Given the description of an element on the screen output the (x, y) to click on. 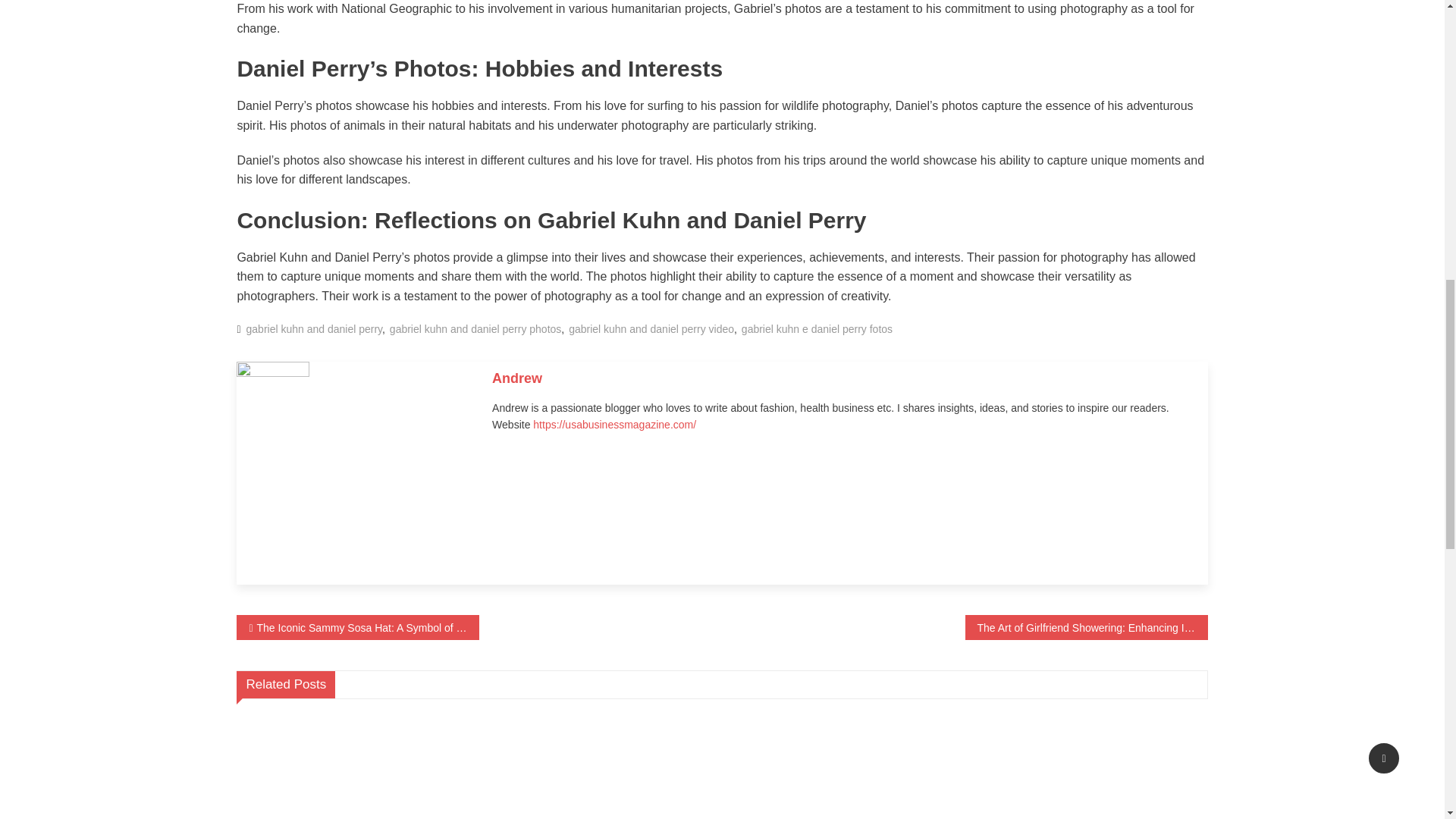
Posts by Andrew (516, 378)
